Given the description of an element on the screen output the (x, y) to click on. 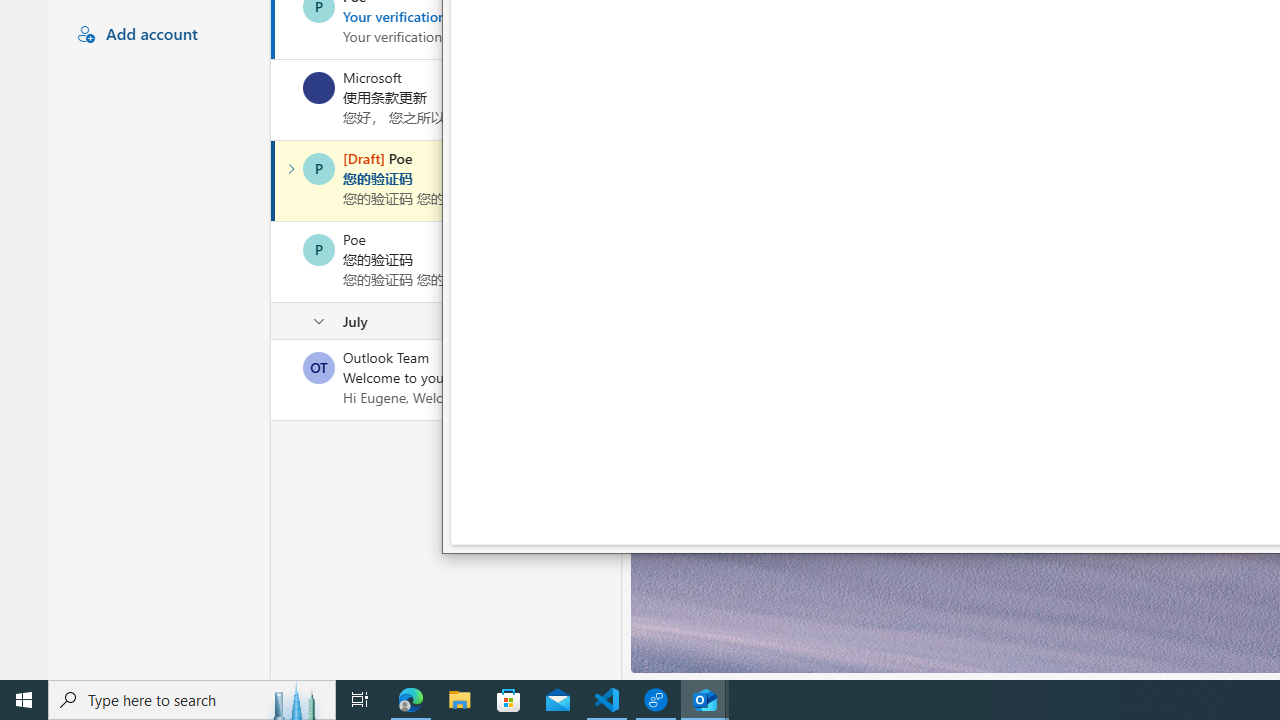
Visual Studio Code - 1 running window (607, 699)
File Explorer (460, 699)
Search highlights icon opens search home window (295, 699)
